Given the description of an element on the screen output the (x, y) to click on. 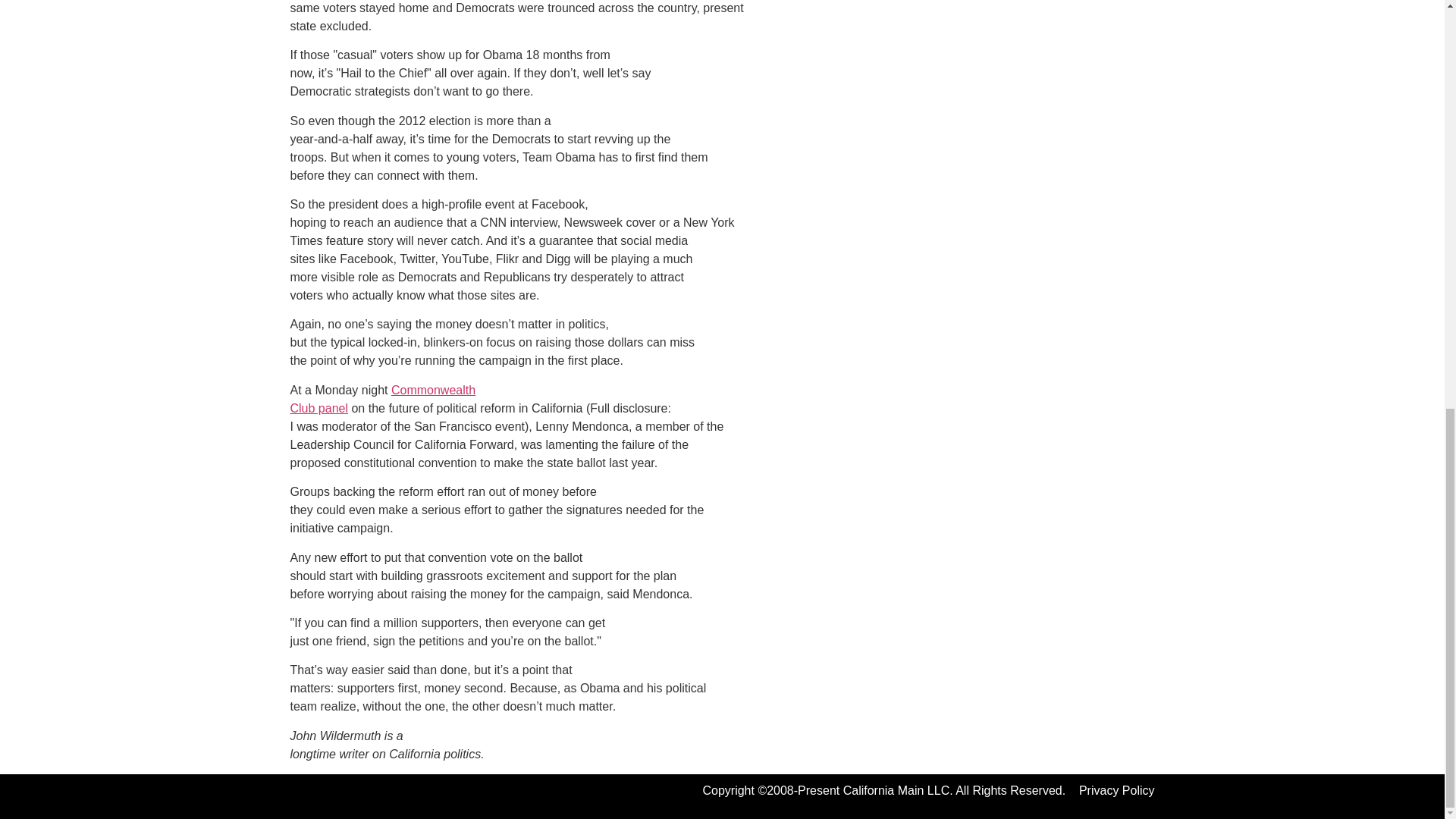
Privacy Policy (1116, 789)
